Given the description of an element on the screen output the (x, y) to click on. 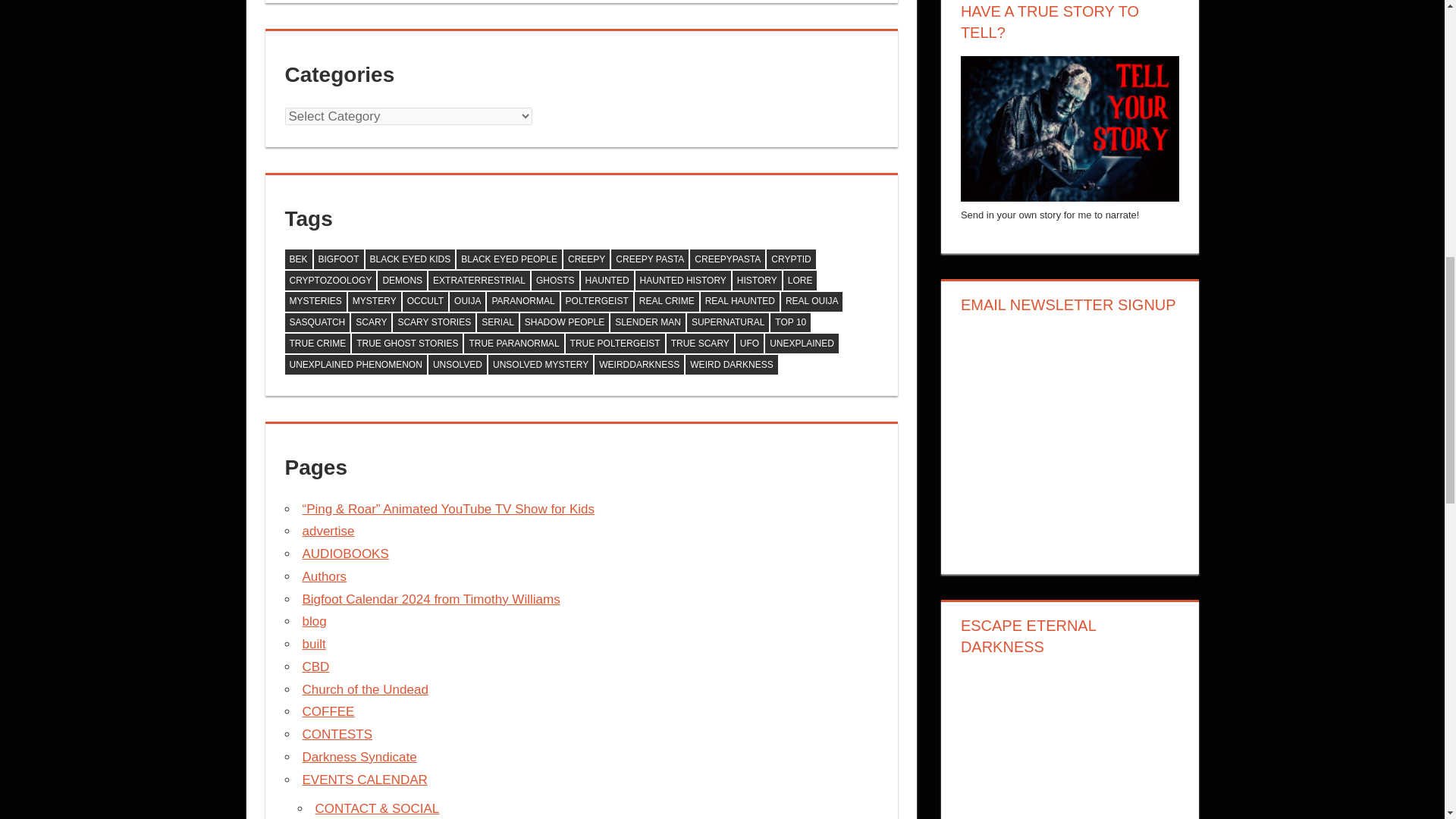
Email Newsletter Signup (1069, 437)
